Given the description of an element on the screen output the (x, y) to click on. 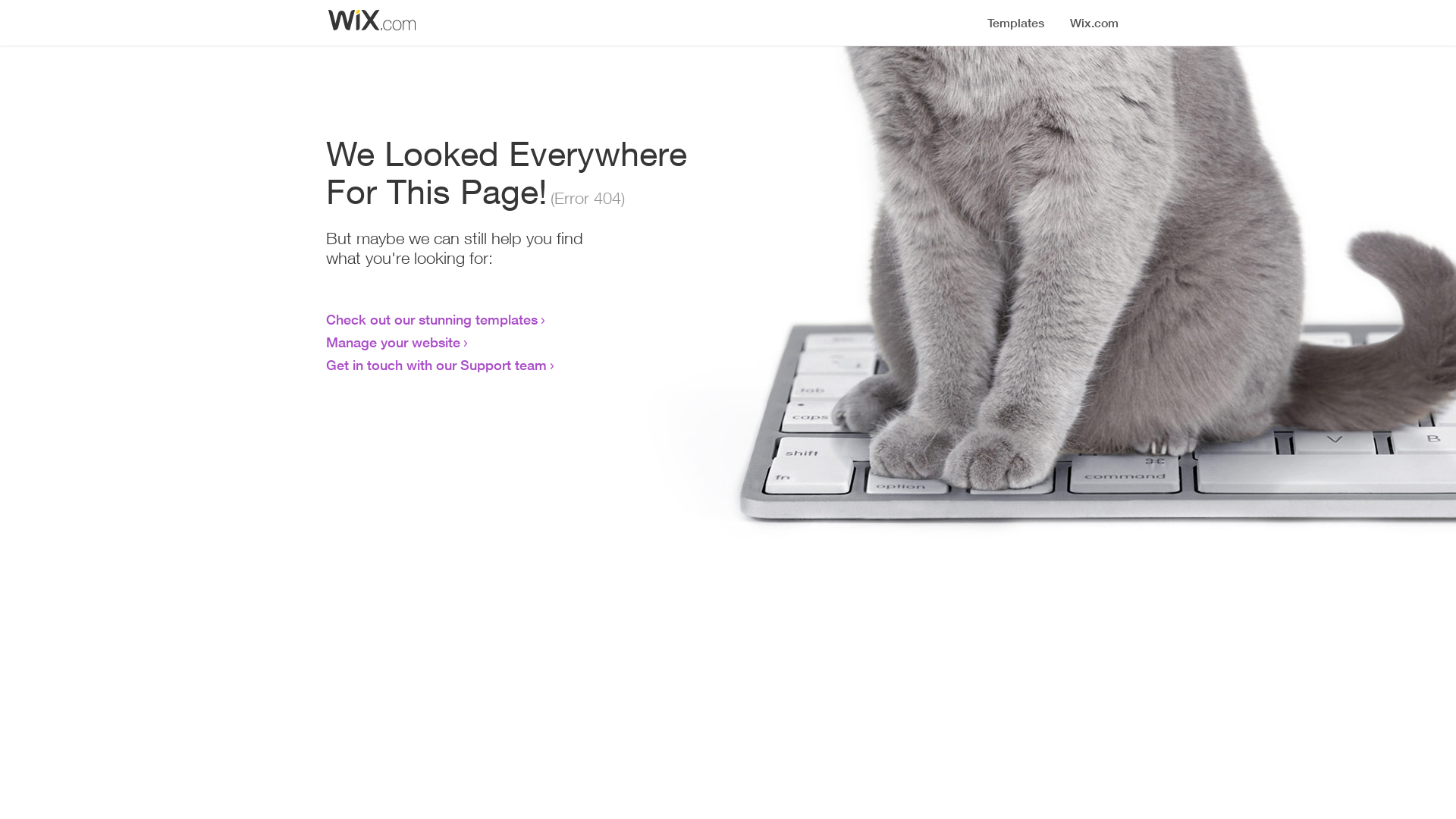
Check out our stunning templates Element type: text (431, 318)
Get in touch with our Support team Element type: text (436, 364)
Manage your website Element type: text (393, 341)
